Given the description of an element on the screen output the (x, y) to click on. 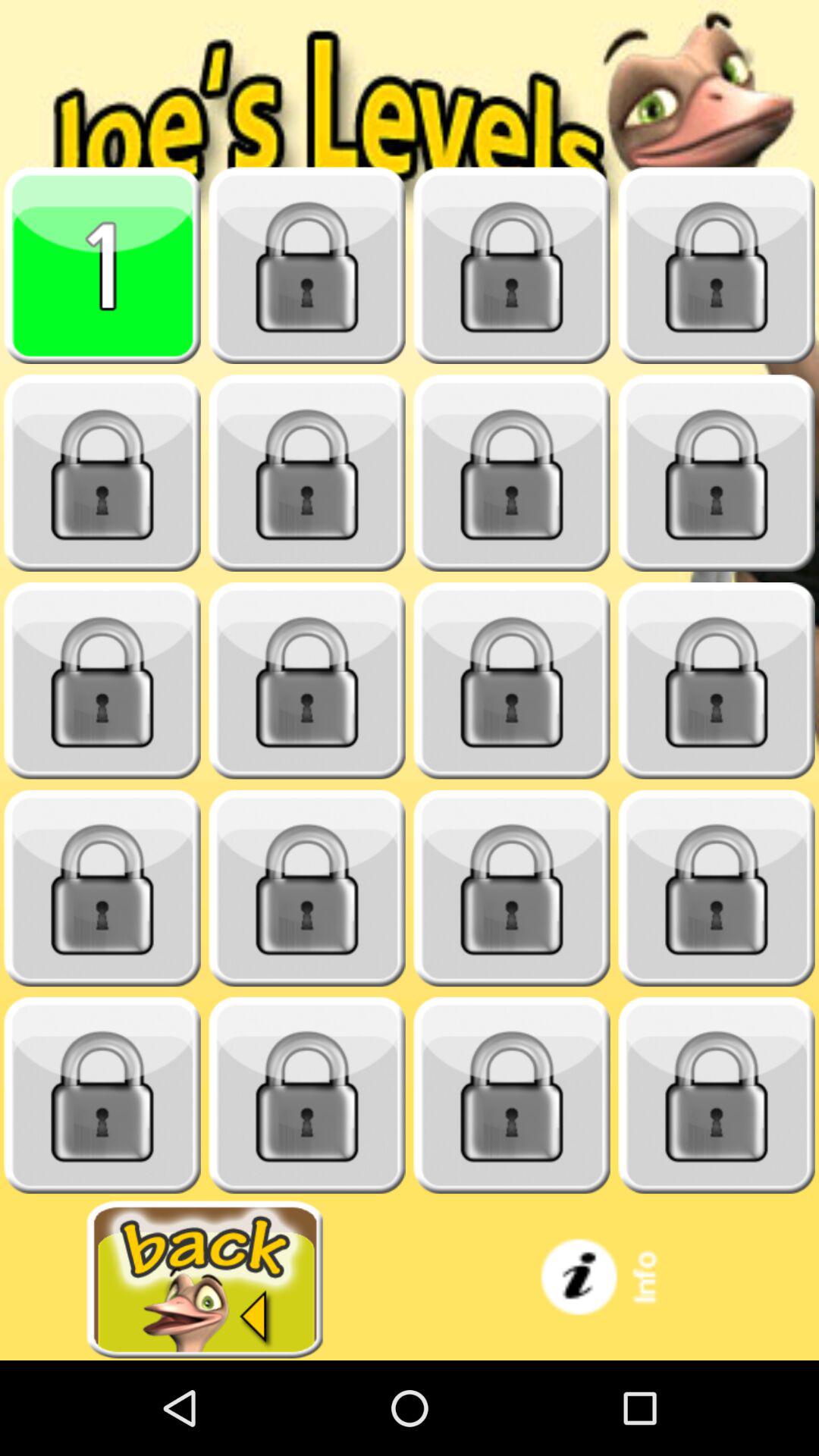
unlock level 15 (511, 887)
